Given the description of an element on the screen output the (x, y) to click on. 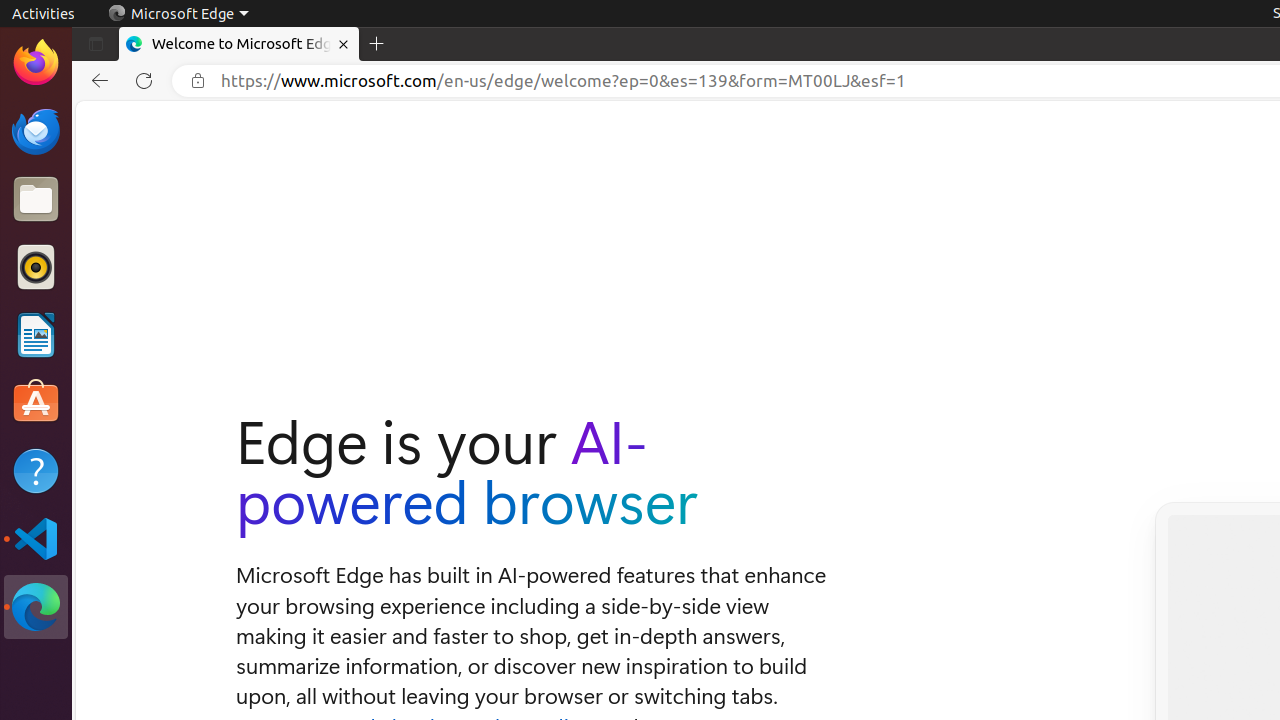
Rhythmbox Element type: push-button (36, 267)
Back Element type: push-button (96, 81)
Microsoft Edge Element type: menu (178, 13)
Ubuntu Software Element type: push-button (36, 402)
Refresh Element type: push-button (144, 81)
